Given the description of an element on the screen output the (x, y) to click on. 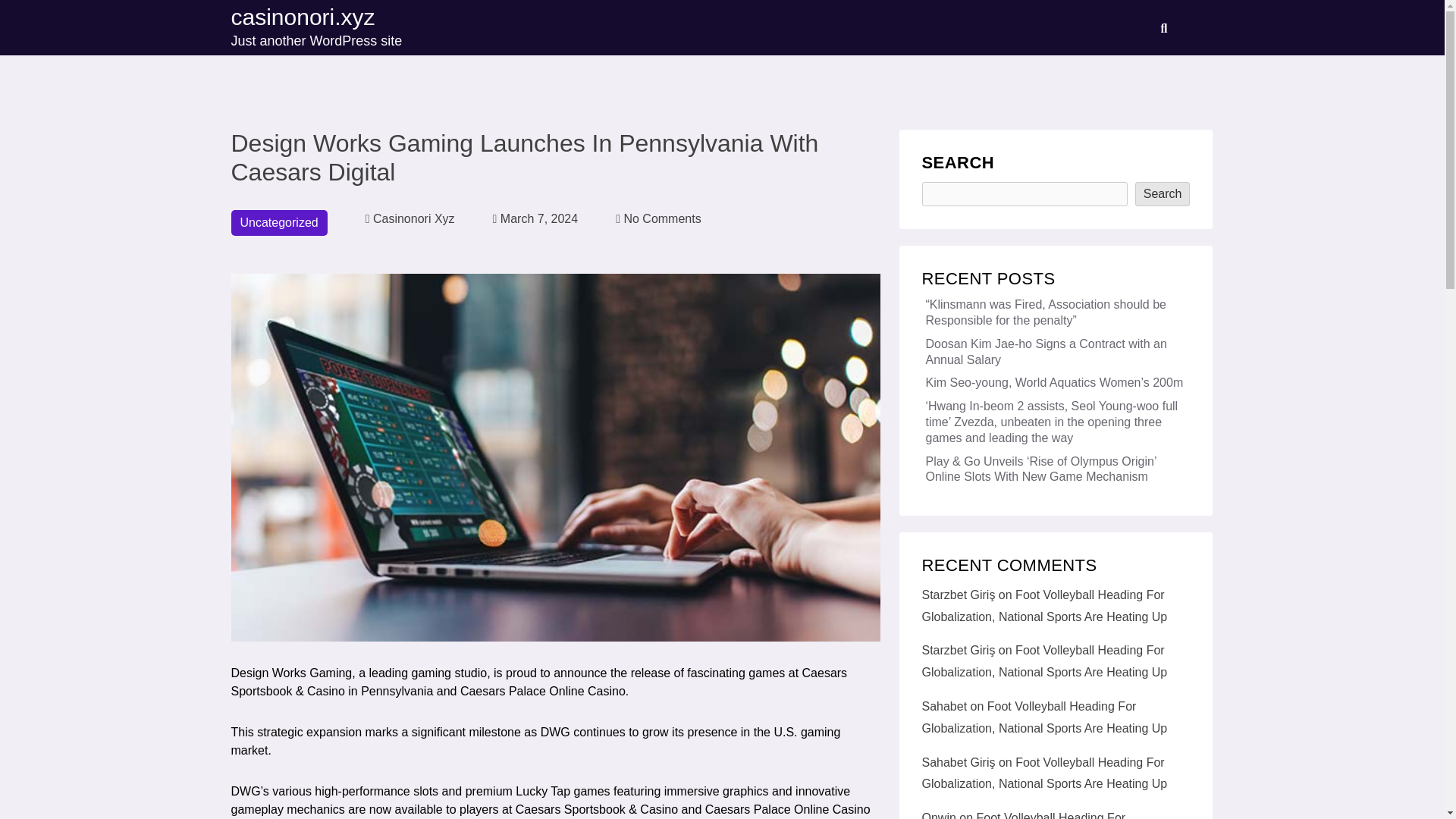
Sahabet (944, 706)
Casinonori Xyz (315, 27)
Onwin (409, 218)
No Comments (938, 815)
Doosan Kim Jae-ho Signs a Contract with an Annual Salary (658, 218)
